Given the description of an element on the screen output the (x, y) to click on. 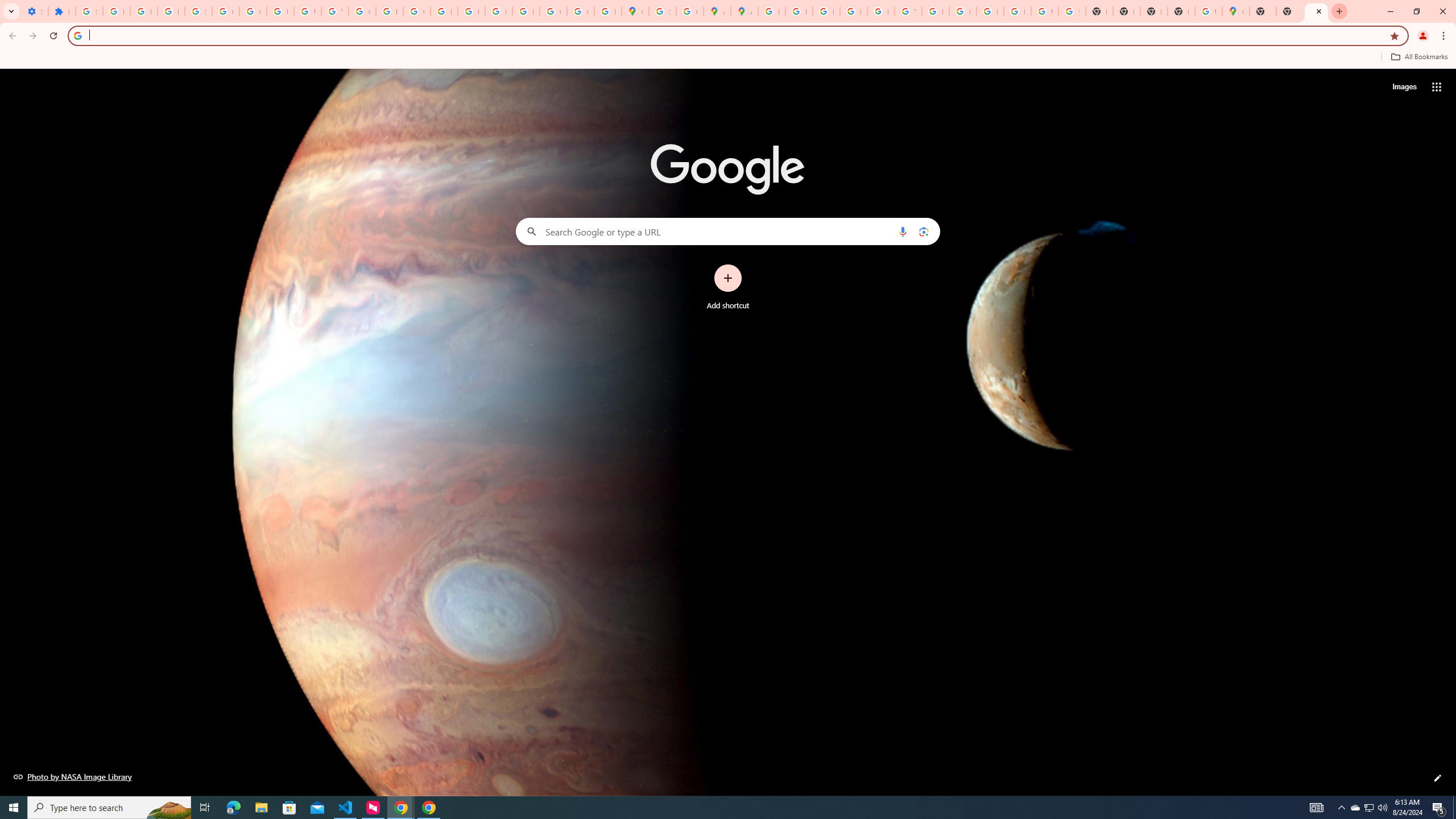
Google Maps (634, 11)
New Tab (1180, 11)
Delete photos & videos - Computer - Google Photos Help (116, 11)
Create your Google Account (690, 11)
Add shortcut (727, 287)
